Given the description of an element on the screen output the (x, y) to click on. 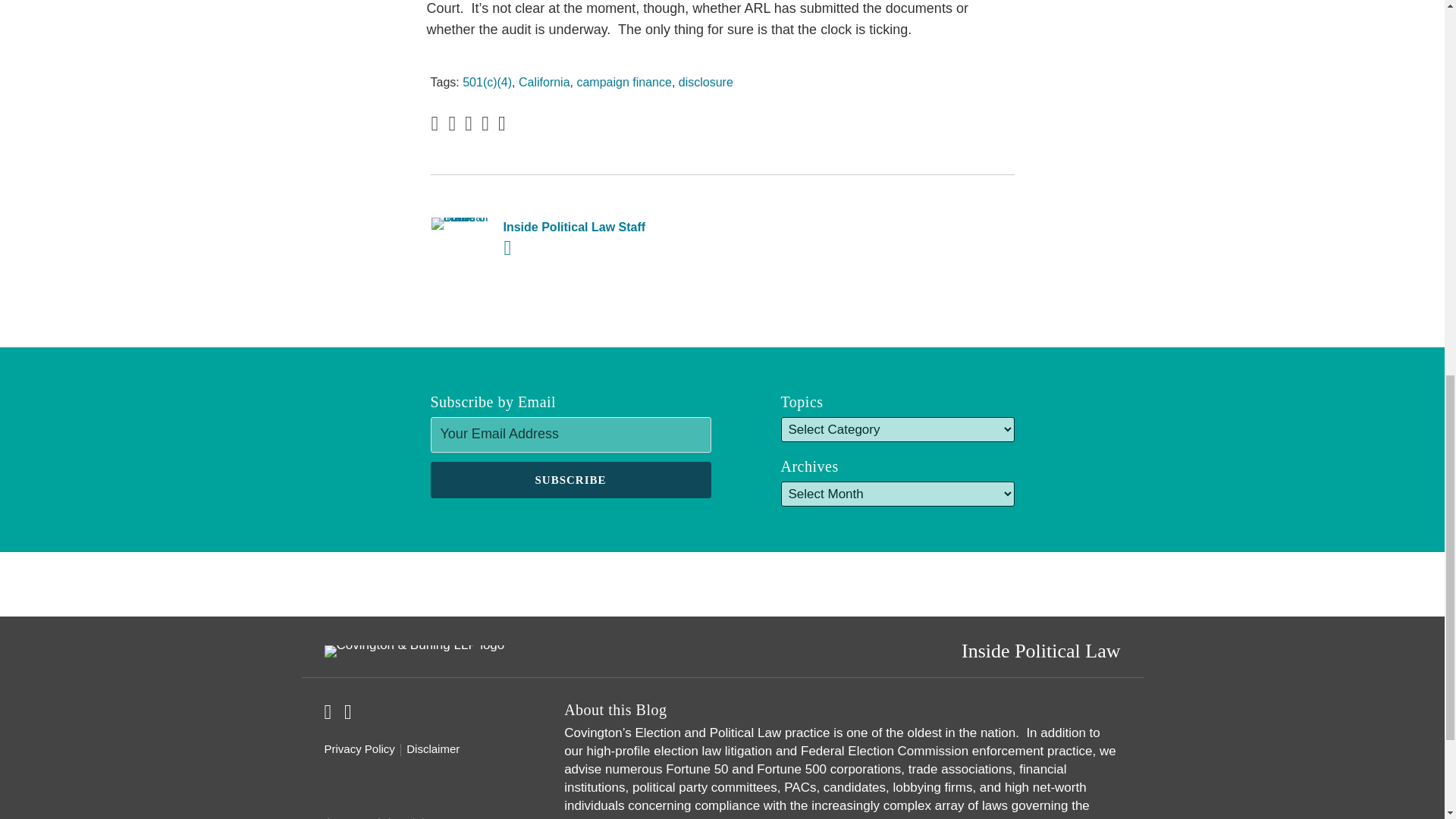
California (544, 82)
campaign finance (623, 82)
Privacy Policy (359, 749)
Subscribe (570, 479)
Subscribe (570, 479)
Inside Political Law (1039, 650)
Disclaimer (433, 749)
Inside Political Law Staff (721, 227)
disclosure (705, 82)
